Given the description of an element on the screen output the (x, y) to click on. 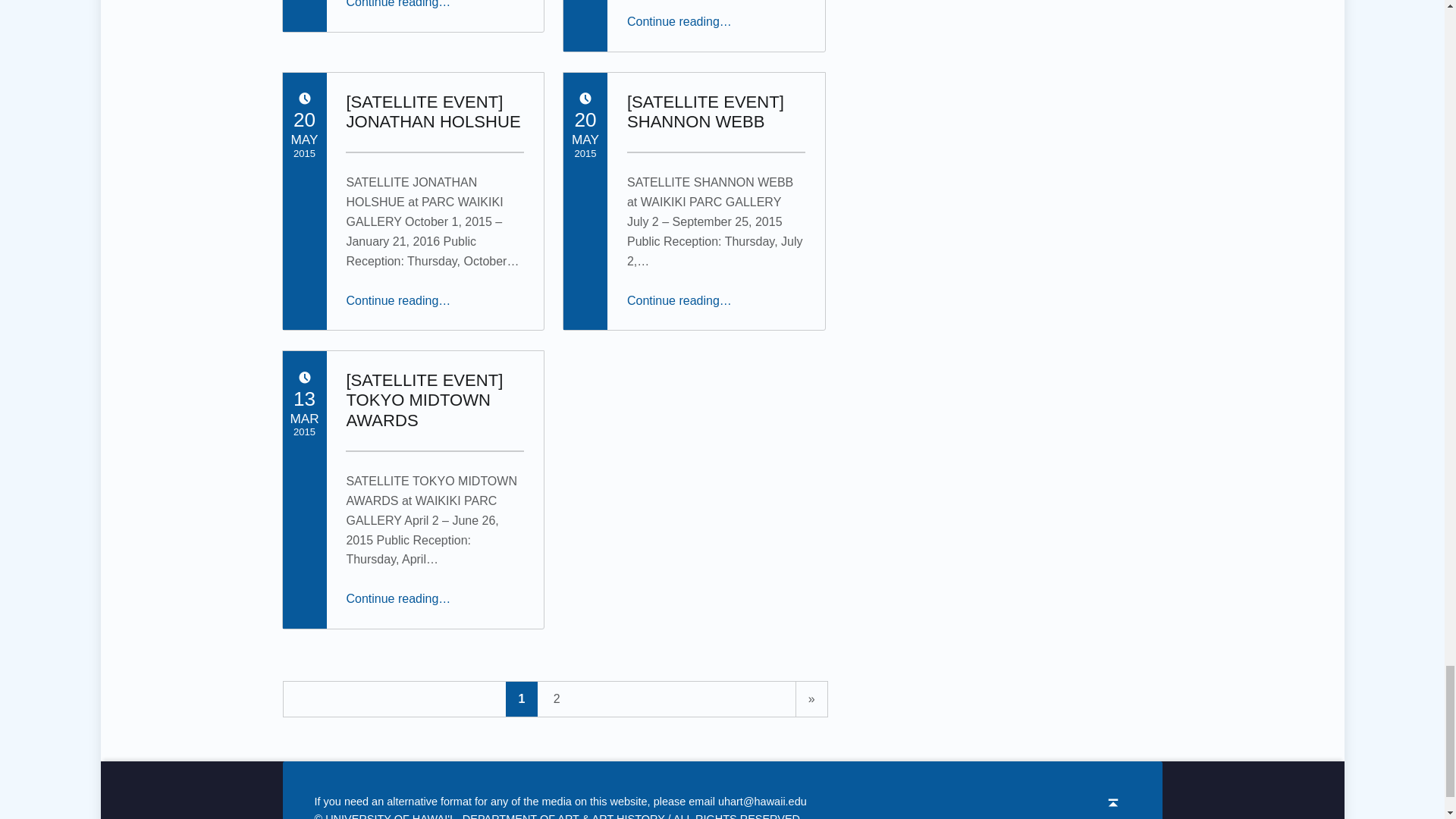
Back to top (1113, 802)
